Given the description of an element on the screen output the (x, y) to click on. 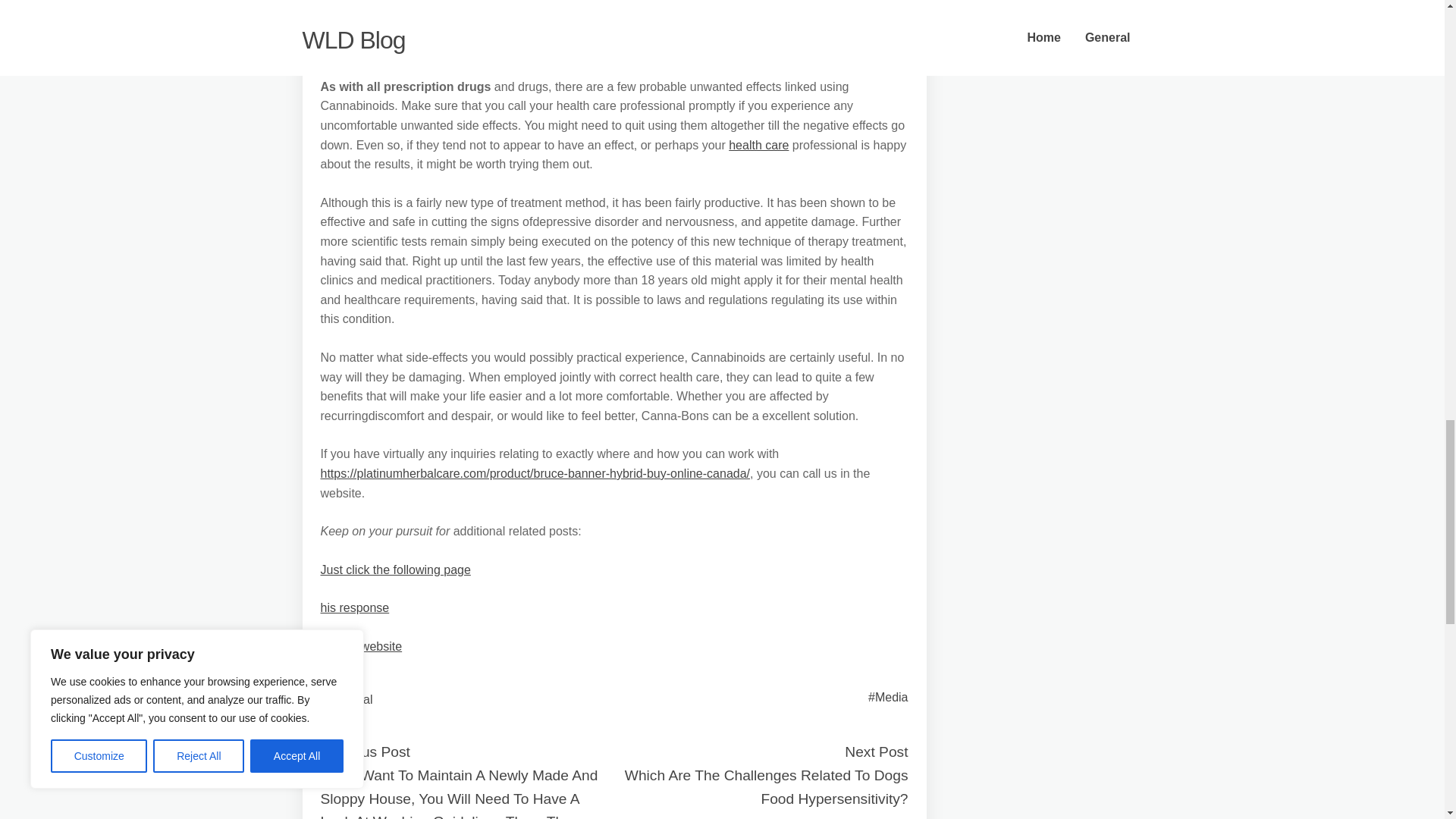
Next Post (875, 751)
related website (360, 645)
health care (759, 144)
Just click the following page (395, 569)
Previous Post (364, 751)
his response (354, 607)
General (351, 698)
